Given the description of an element on the screen output the (x, y) to click on. 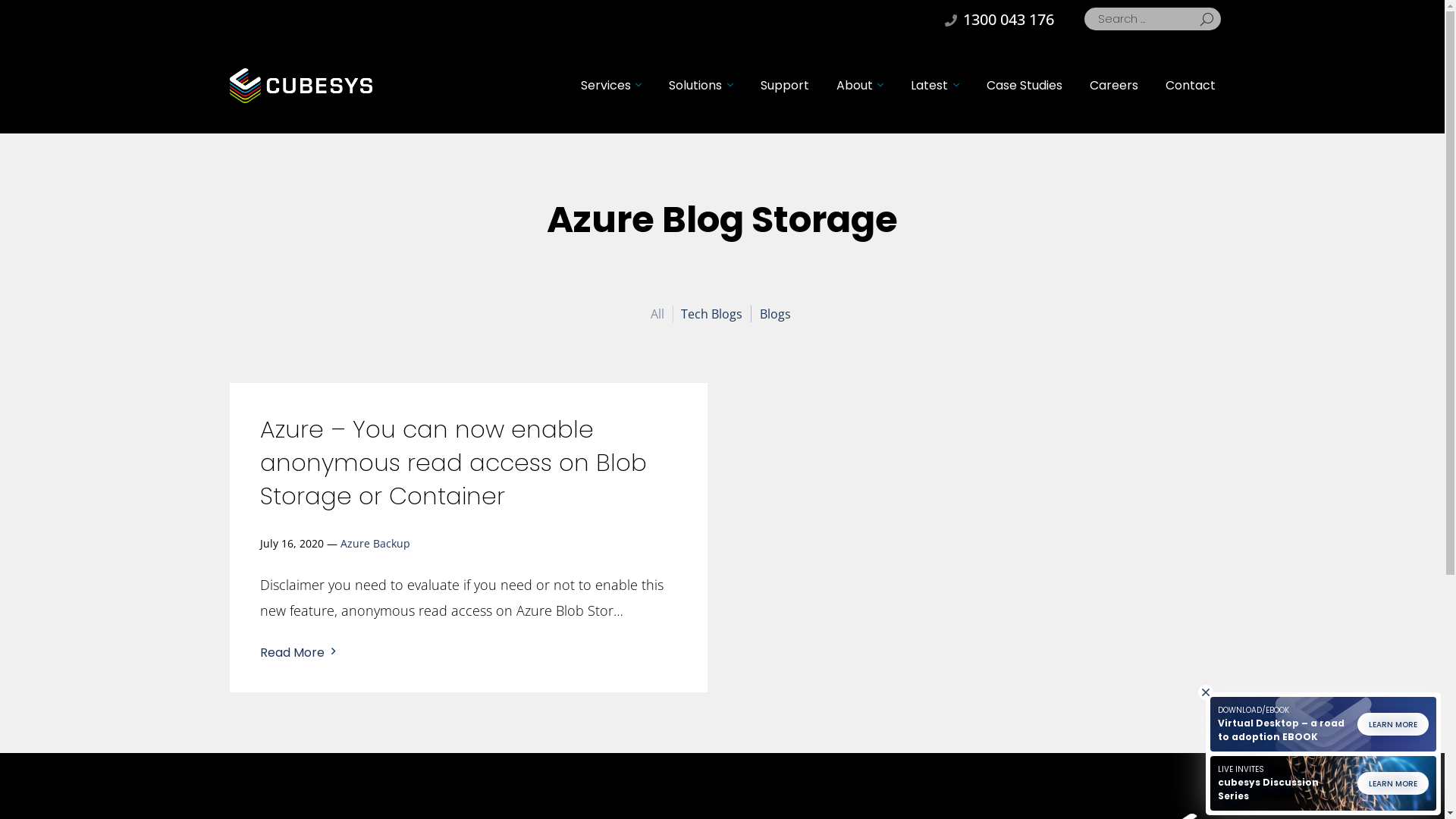
All Element type: text (659, 313)
Azure Backup Element type: text (374, 543)
Latest Element type: text (934, 85)
Blogs Element type: text (776, 313)
Case Studies Element type: text (1023, 85)
LEARN MORE Element type: text (1392, 782)
Support Element type: text (784, 85)
1300 043 176 Element type: text (999, 19)
Tech Blogs Element type: text (714, 313)
Solutions Element type: text (700, 85)
cubesys Discussion Series Element type: text (1267, 788)
Careers Element type: text (1112, 85)
LEARN MORE Element type: text (1392, 723)
Read More Element type: text (291, 655)
Services Element type: text (610, 85)
About Element type: text (859, 85)
Contact Element type: text (1189, 85)
